Given the description of an element on the screen output the (x, y) to click on. 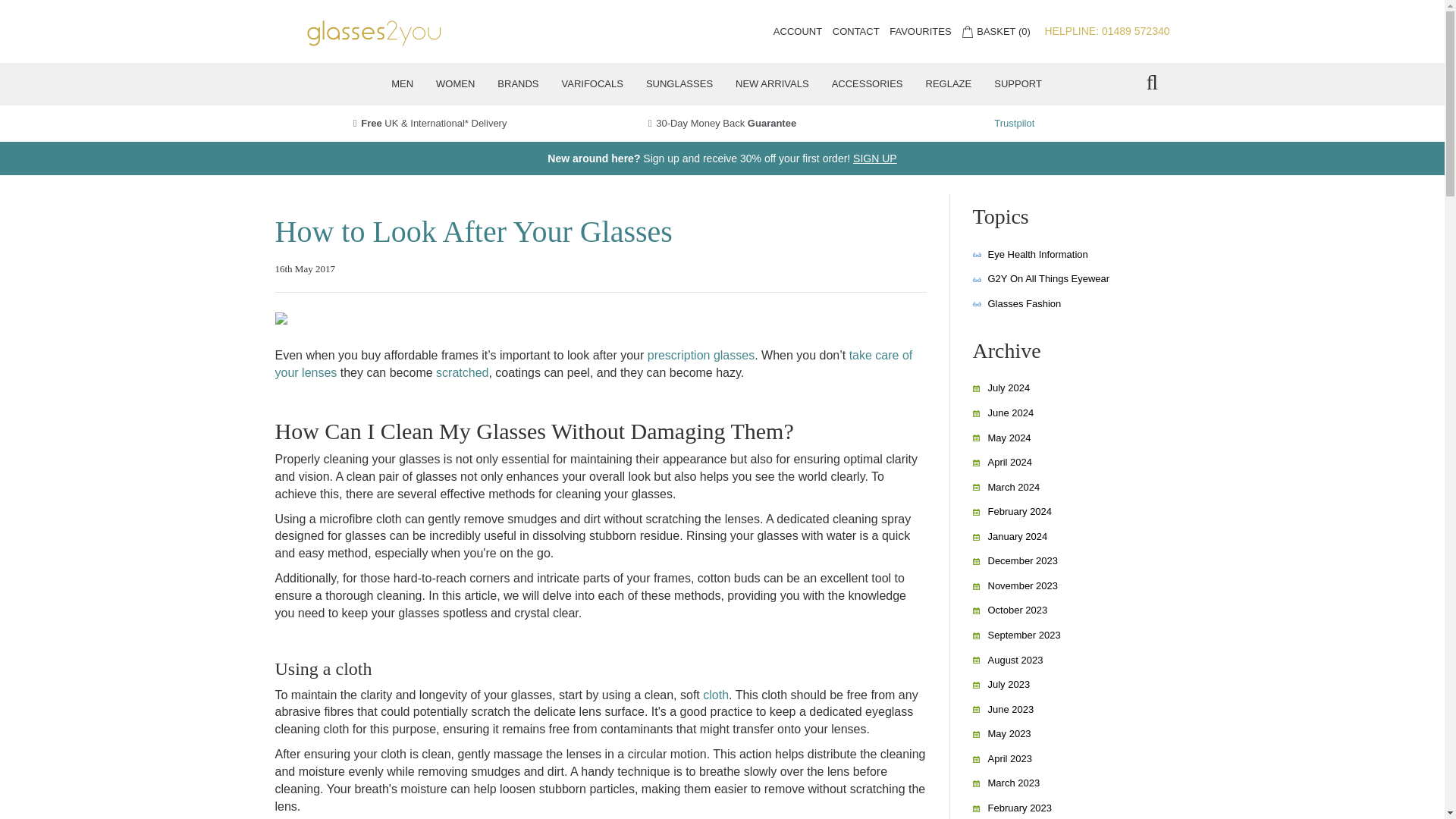
ACCOUNT (797, 30)
BRANDS (518, 84)
VARIFOCALS (592, 84)
WOMEN (455, 84)
FAVOURITES (919, 30)
REGLAZE (949, 84)
ACCESSORIES (867, 84)
SUPPORT (1017, 84)
MEN (402, 84)
SUNGLASSES (678, 84)
